Given the description of an element on the screen output the (x, y) to click on. 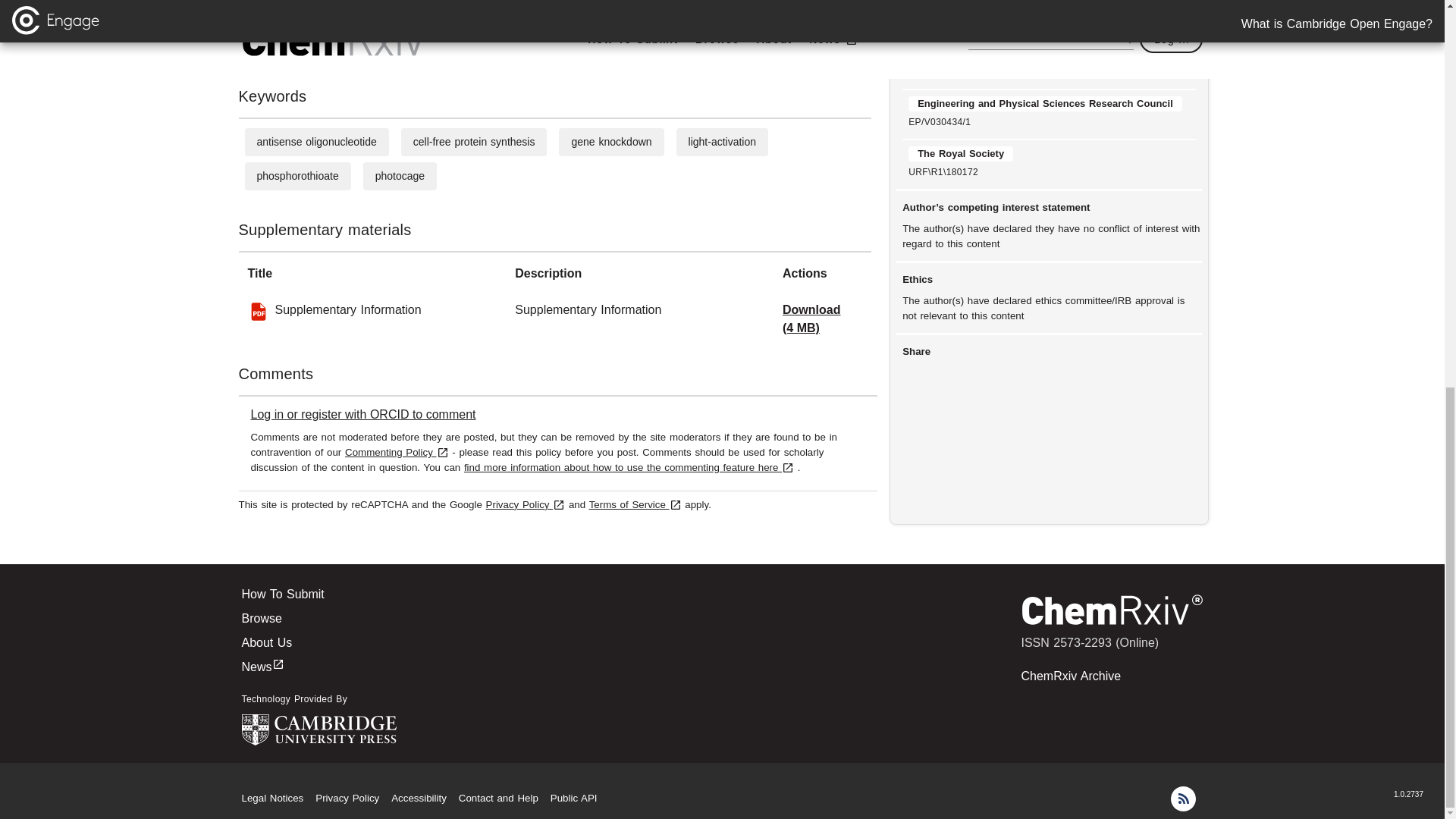
antisense oligonucleotide (315, 141)
photocage (400, 175)
phosphorothioate (296, 175)
gene knockdown (610, 141)
Log in or register with ORCID to comment (363, 414)
cell-free protein synthesis (474, 141)
light-activation (722, 141)
